Given the description of an element on the screen output the (x, y) to click on. 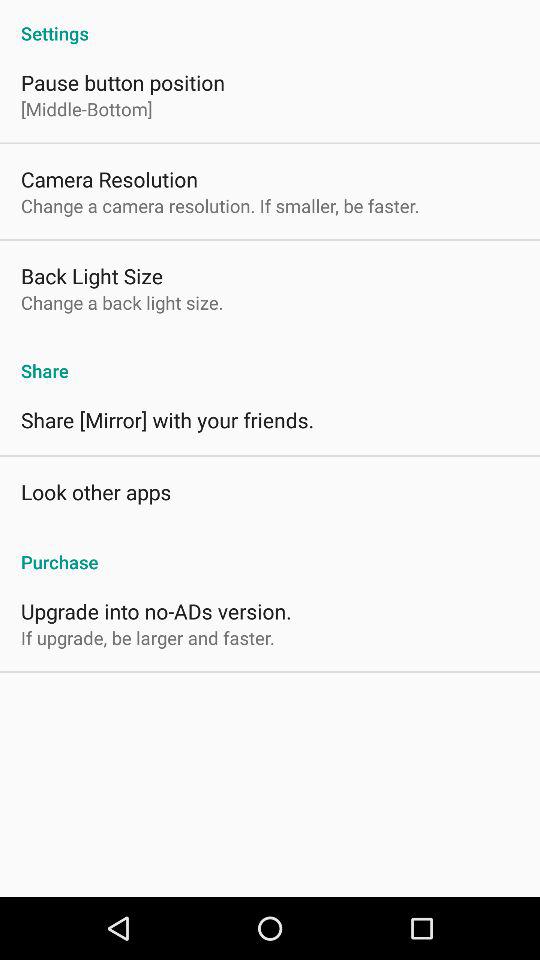
turn on [middle-bottom] app (86, 108)
